Given the description of an element on the screen output the (x, y) to click on. 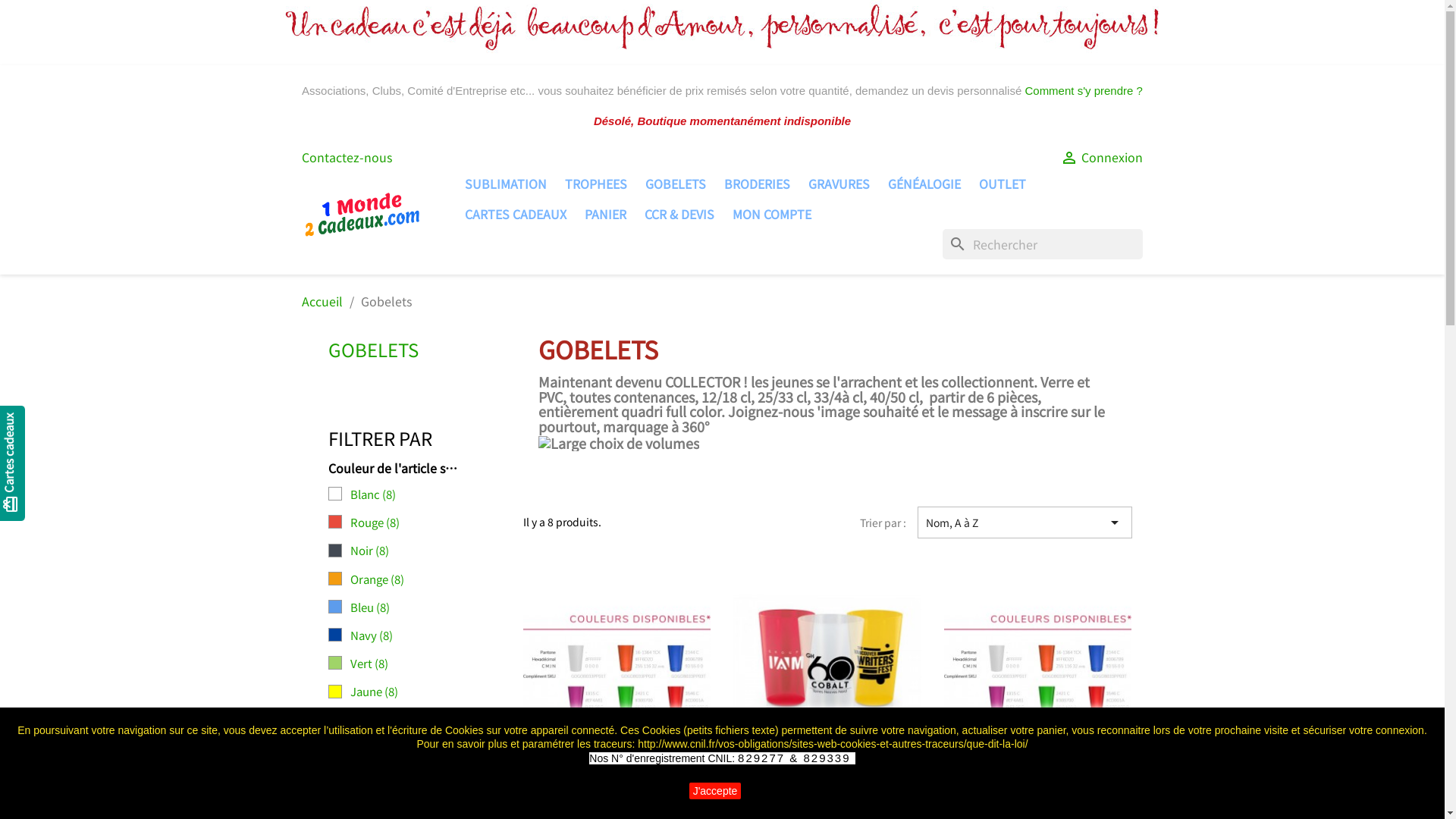
GOBELETS Element type: text (674, 183)
Vert (8) Element type: text (417, 663)
Rouge (8) Element type: text (417, 522)
BRODERIES Element type: text (756, 183)
Orange (8) Element type: text (417, 578)
Jaune (8) Element type: text (417, 691)
Bleu (8) Element type: text (417, 607)
Contactez-nous Element type: text (346, 156)
J'accepte Element type: text (715, 790)
card_giftcard Cartes cadeaux Element type: text (50, 421)
Blanc (8) Element type: text (417, 494)
MON COMPTE Element type: text (771, 213)
CUP 25/33 Cl, Par 20p, Full... Element type: text (1037, 801)
Navy (8) Element type: text (417, 635)
SUBLIMATION Element type: text (504, 183)
OUTLET Element type: text (1001, 183)
Comment s'y prendre ? Element type: text (1083, 90)
GRAVURES Element type: text (838, 183)
Accueil Element type: text (321, 300)
CUP 12/18 Cl, Par 6p, Full... Element type: text (827, 801)
Noir (8) Element type: text (417, 550)
CCR & DEVIS Element type: text (679, 213)
PANIER Element type: text (604, 213)
GOBELETS Element type: text (372, 348)
Parme (8) Element type: text (417, 720)
CARTES CADEAUX Element type: text (514, 213)
TROPHEES Element type: text (594, 183)
CUP 12/18 Cl, Par 20p, Full... Element type: text (617, 801)
